Given the description of an element on the screen output the (x, y) to click on. 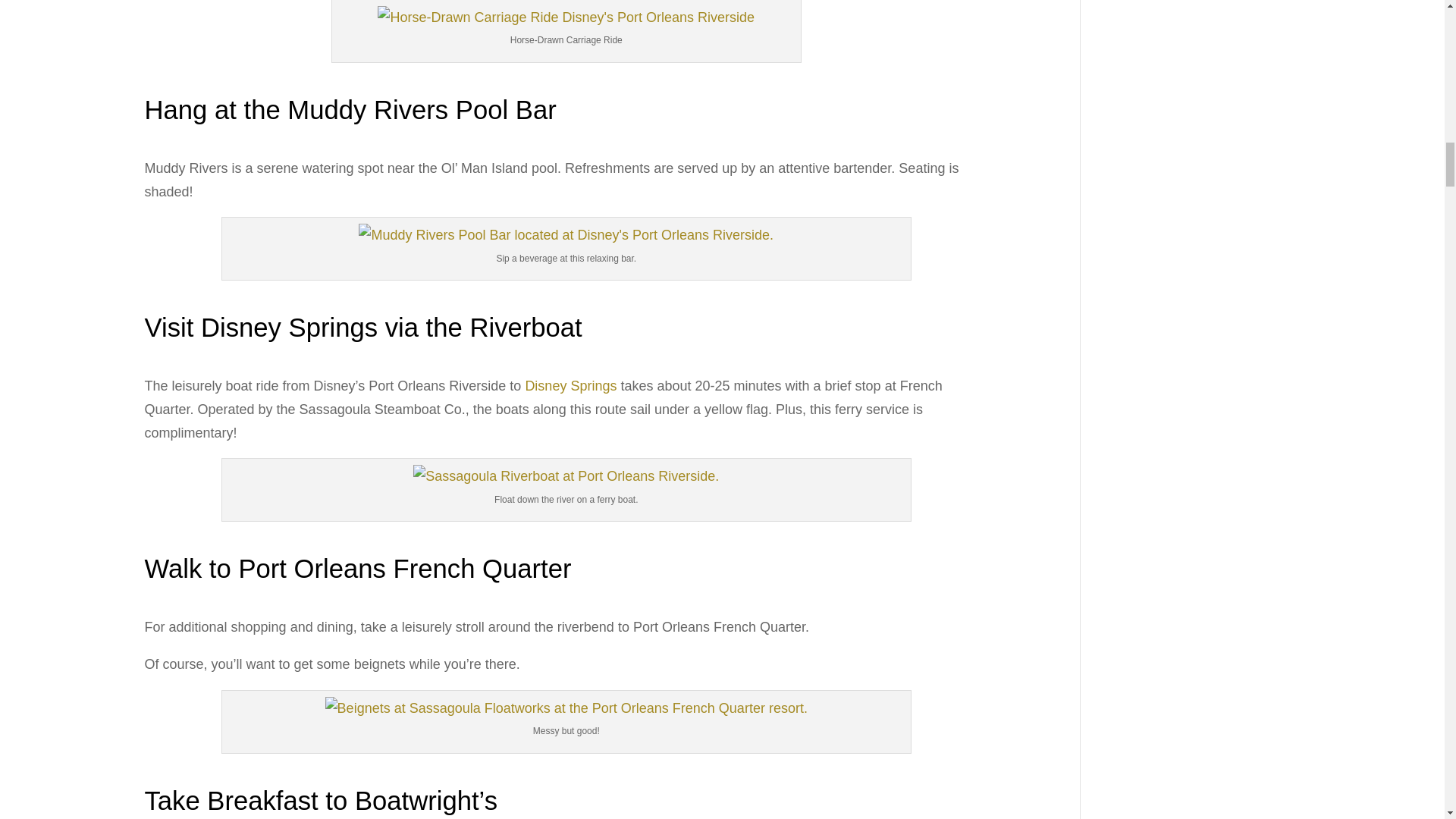
Disney Springs (569, 385)
